Given the description of an element on the screen output the (x, y) to click on. 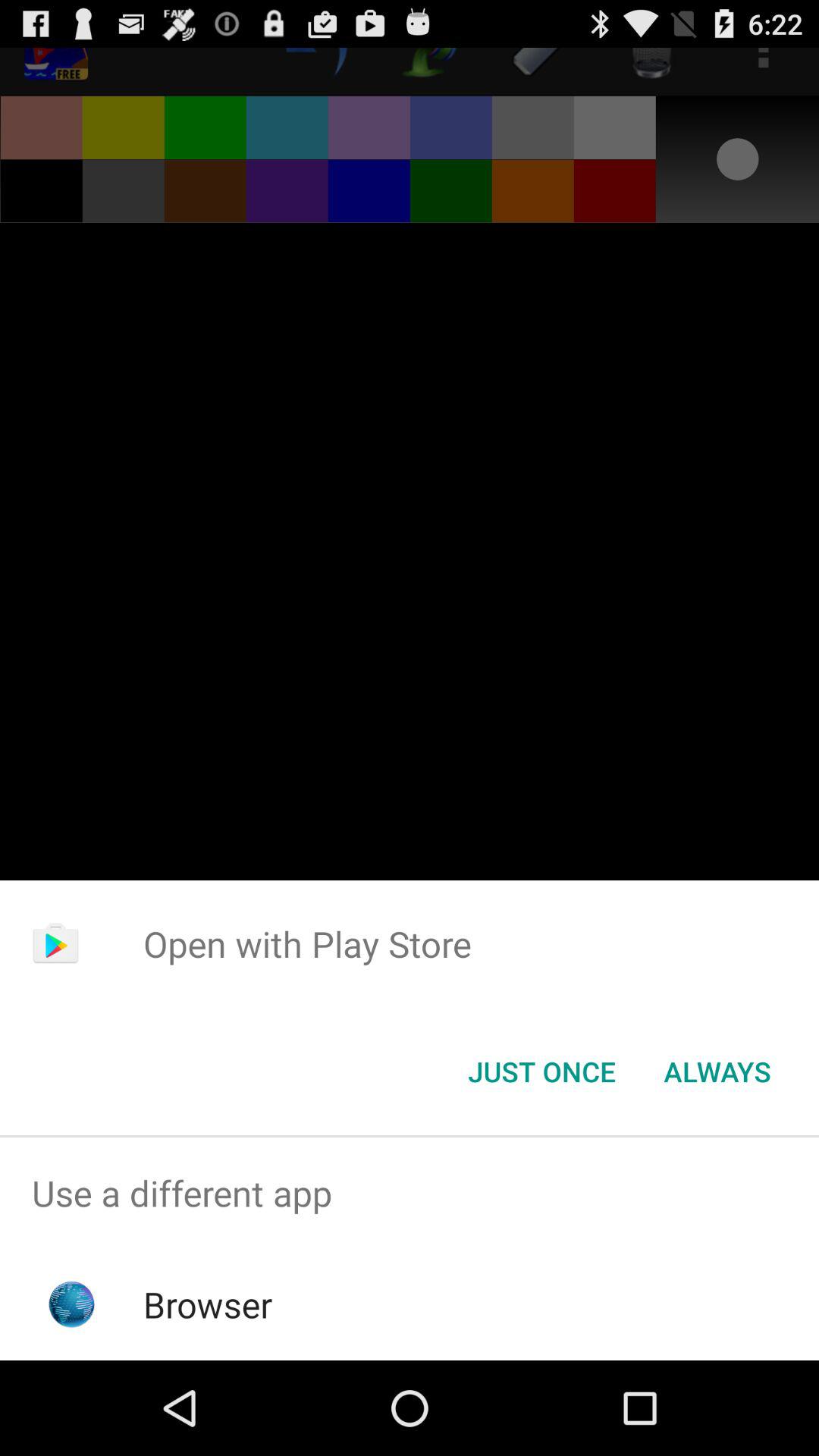
open icon below open with play (541, 1071)
